Given the description of an element on the screen output the (x, y) to click on. 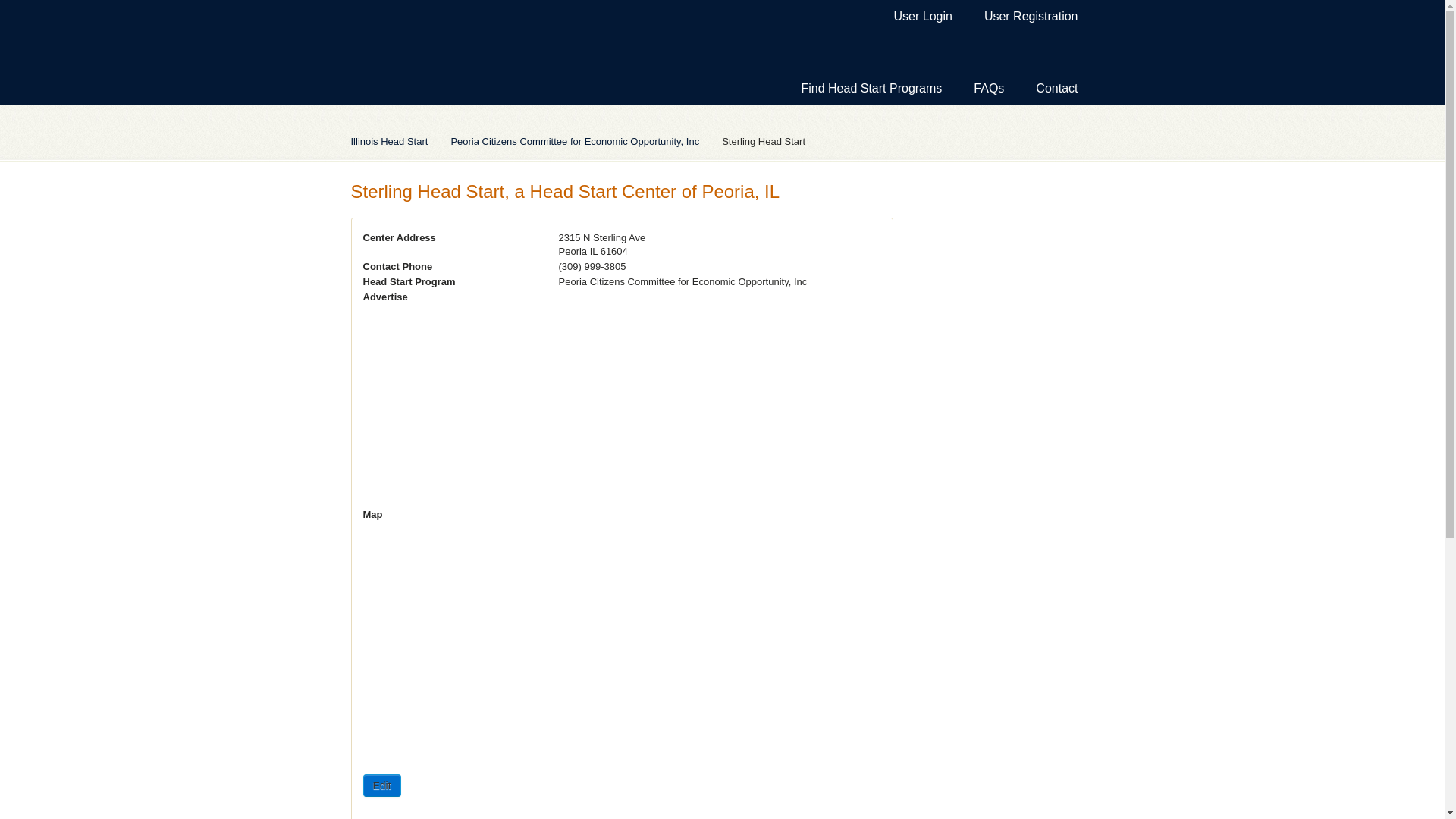
Find Head Start Programs (871, 88)
Peoria Citizens Committee for Economic Opportunity, Inc (585, 141)
User Registration (1031, 16)
FAQs (988, 88)
Edit (381, 784)
Illinois Head Start (399, 141)
User Login (923, 16)
Contact (1056, 88)
